Given the description of an element on the screen output the (x, y) to click on. 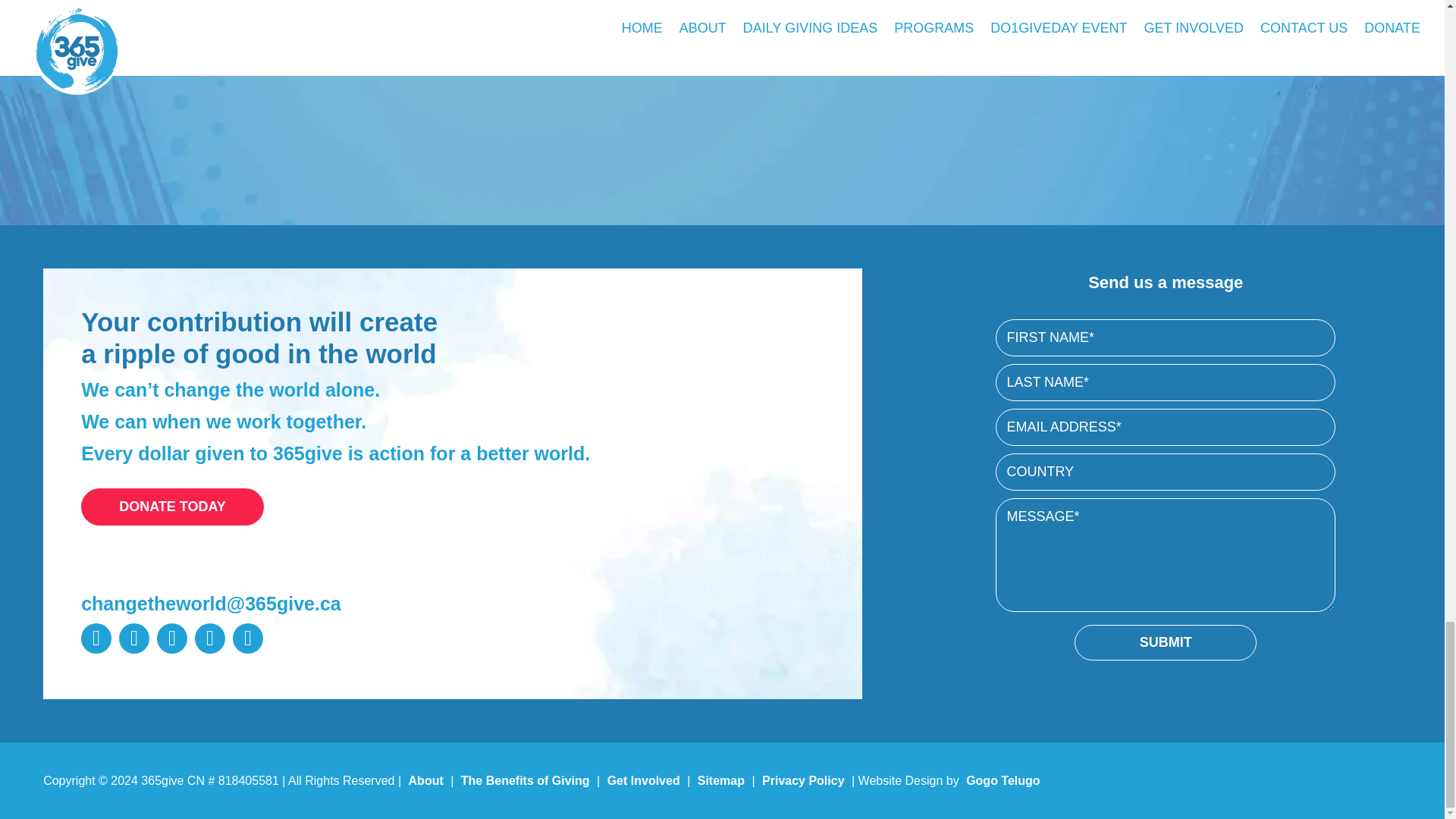
SUBMIT (1165, 642)
